Given the description of an element on the screen output the (x, y) to click on. 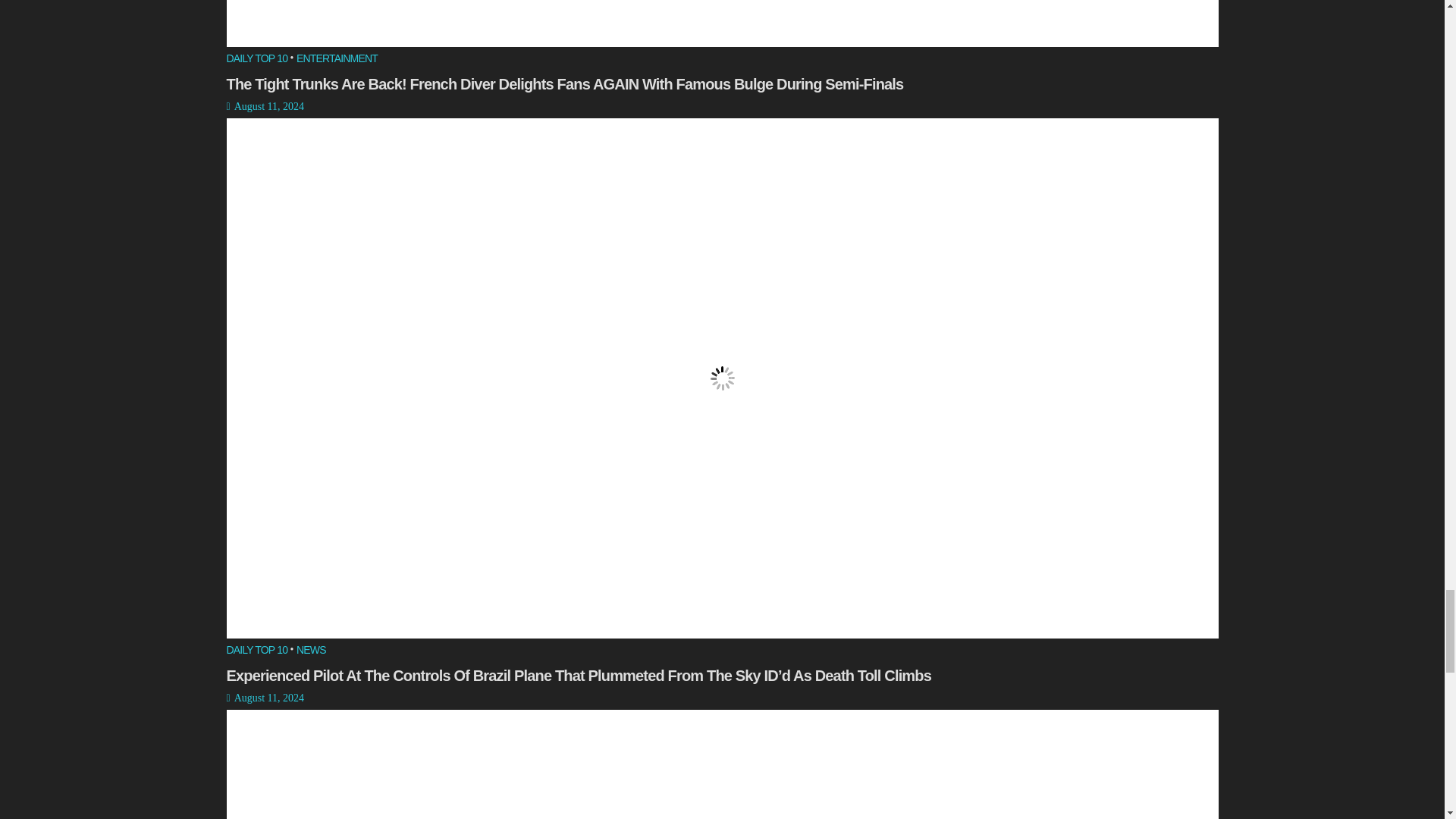
DAILY TOP 10 (255, 59)
ENTERTAINMENT (337, 59)
